Given the description of an element on the screen output the (x, y) to click on. 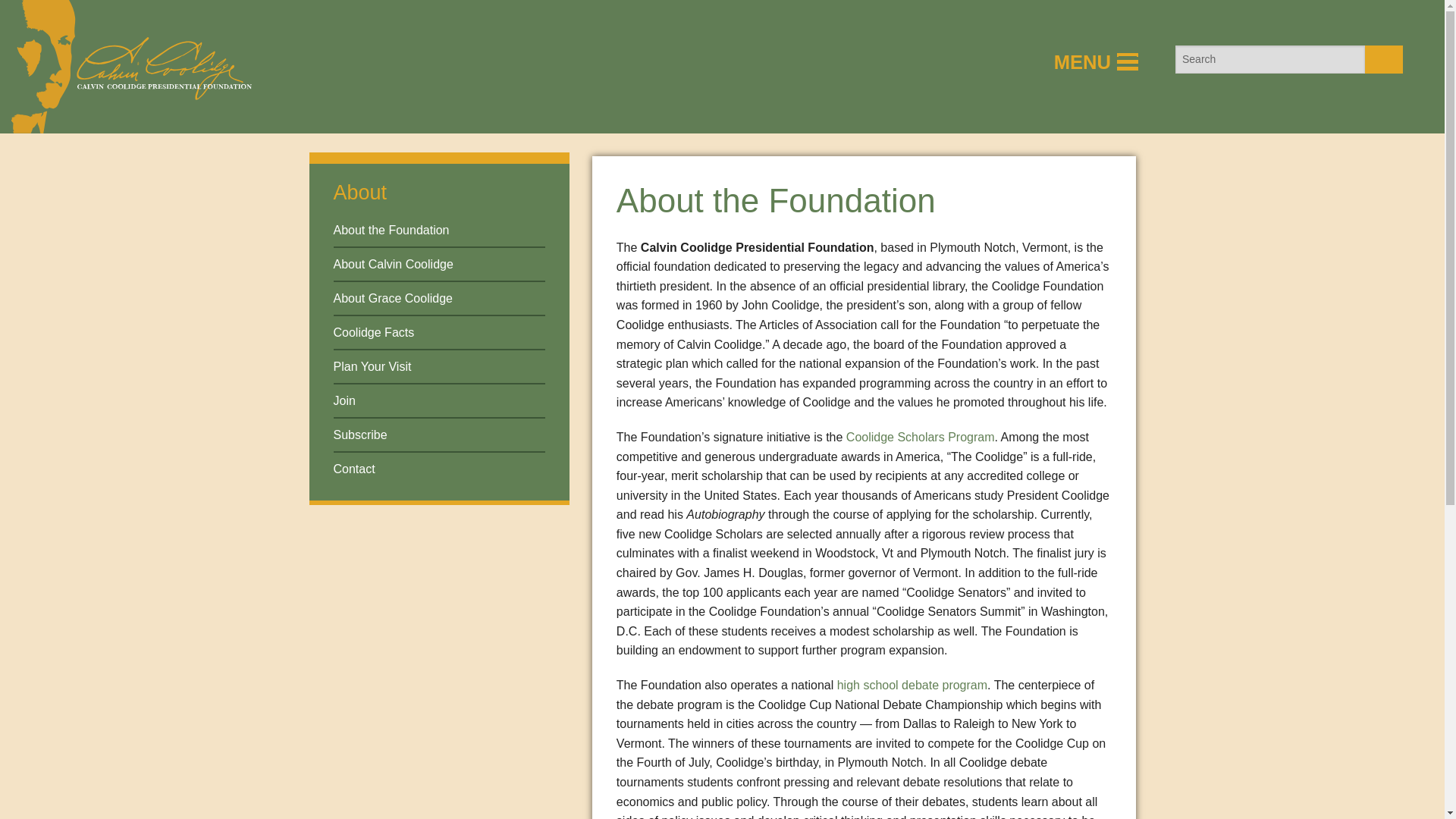
high school debate program (912, 684)
Join (344, 400)
About Calvin Coolidge (392, 264)
Search (1384, 59)
Plan Your Visit (372, 366)
About Grace Coolidge (392, 297)
About the Foundation (391, 229)
Subscribe (360, 434)
Coolidge Scholars Program (919, 436)
Search (1384, 59)
